Given the description of an element on the screen output the (x, y) to click on. 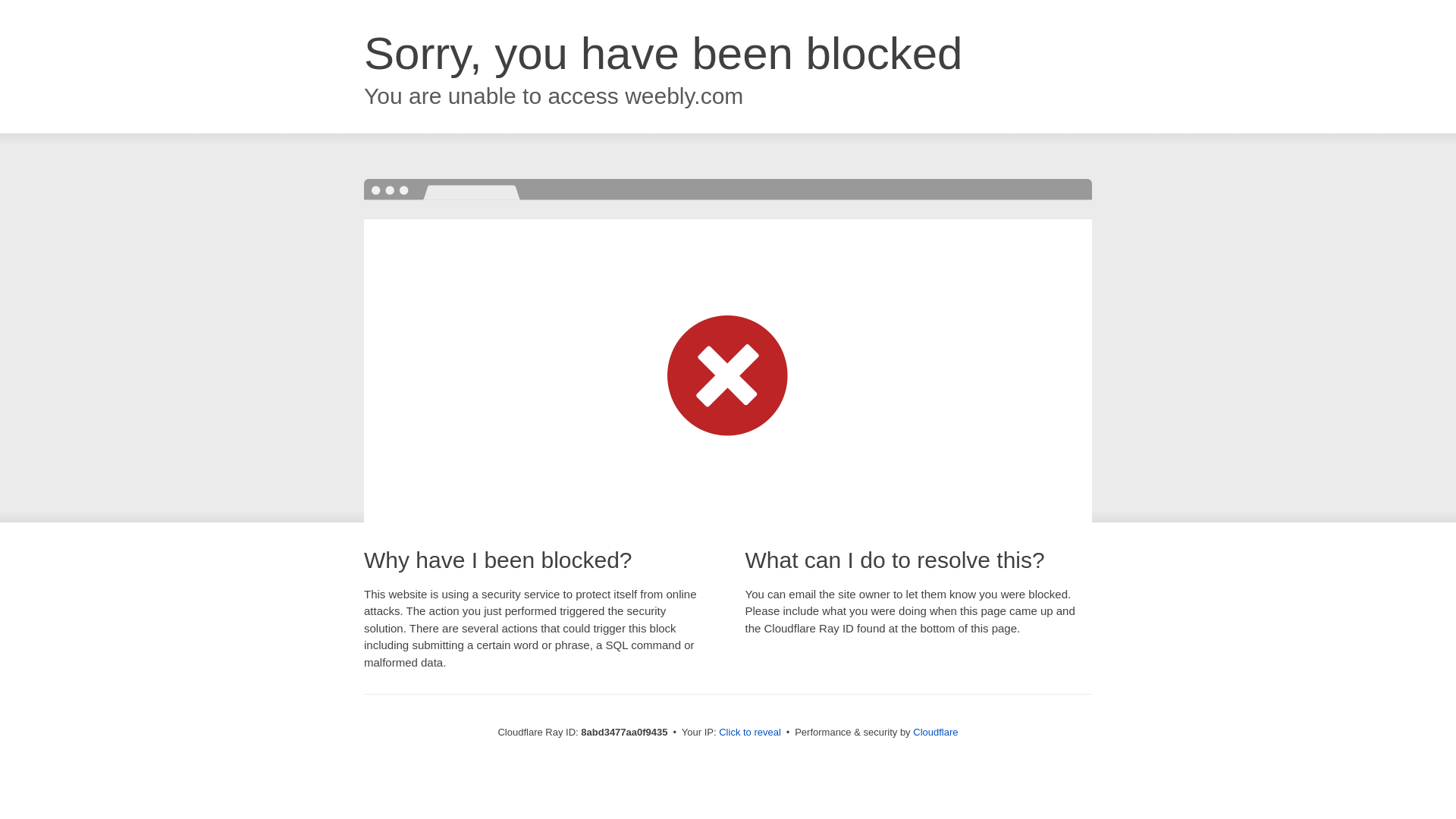
Cloudflare (935, 731)
Click to reveal (749, 732)
